Given the description of an element on the screen output the (x, y) to click on. 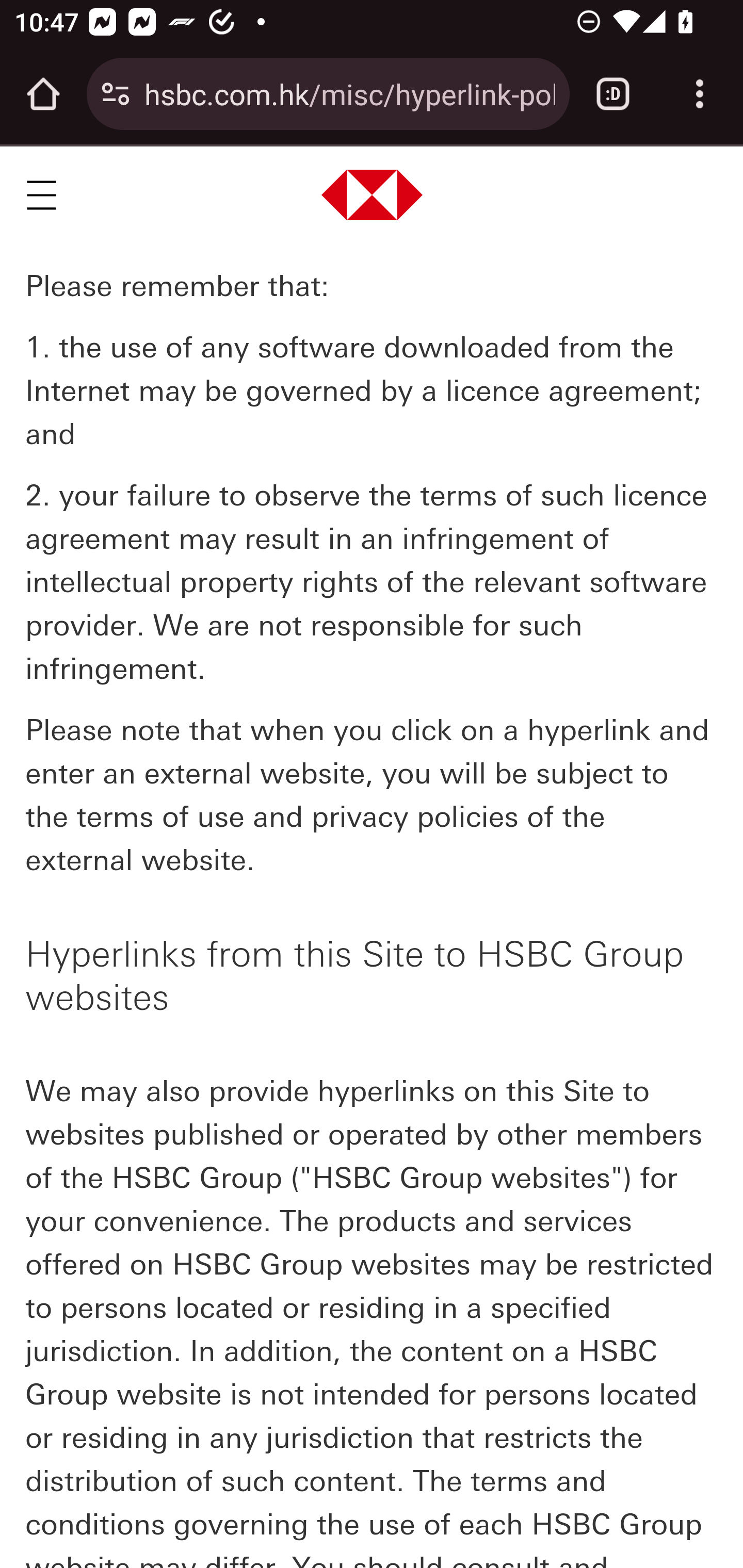
Open the home page (43, 93)
Connection is secure (115, 93)
Switch or close tabs (612, 93)
Customize and control Google Chrome (699, 93)
hsbc.com.hk/misc/hyperlink-policy/ (349, 92)
HSBC Hong Kong Bank (372, 195)
Mobile Menu Trigger (41, 195)
